Given the description of an element on the screen output the (x, y) to click on. 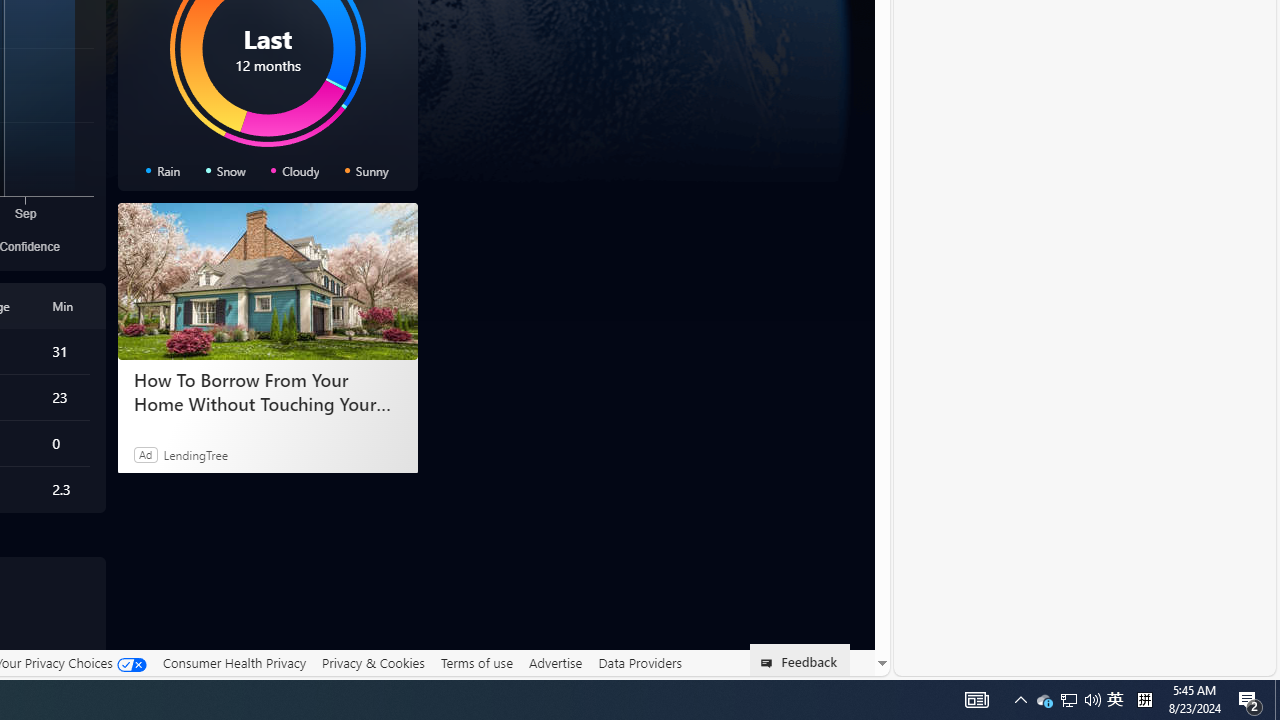
Terms of use (476, 663)
Class: feedback_link_icon-DS-EntryPoint1-1 (770, 663)
Terms of use (476, 662)
Data Providers (639, 663)
Data Providers (639, 662)
LendingTree (194, 453)
